Given the description of an element on the screen output the (x, y) to click on. 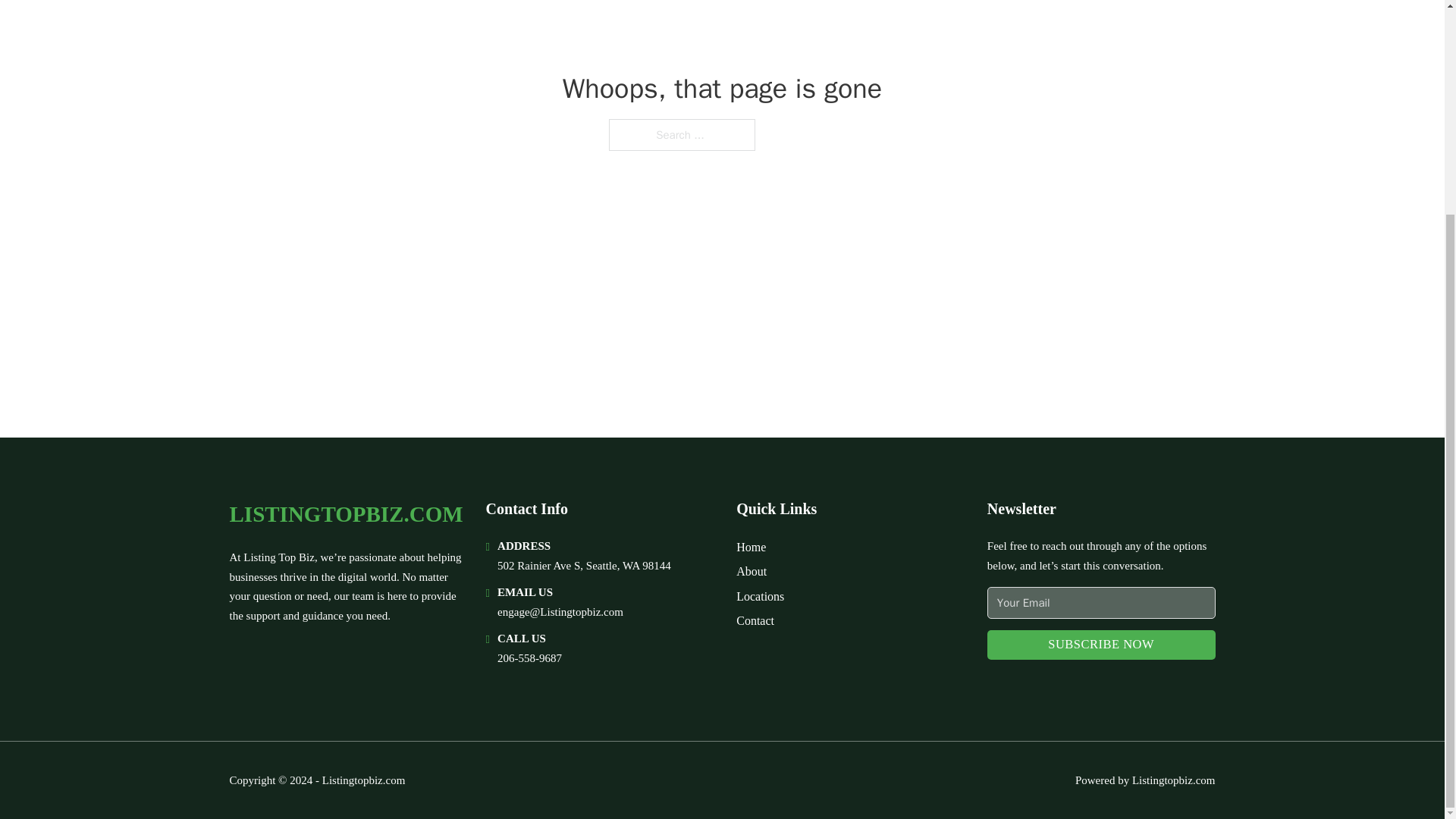
Contact (755, 620)
206-558-9687 (529, 657)
About (751, 571)
Home (750, 547)
LISTINGTOPBIZ.COM (345, 514)
SUBSCRIBE NOW (1101, 644)
Locations (760, 596)
